Given the description of an element on the screen output the (x, y) to click on. 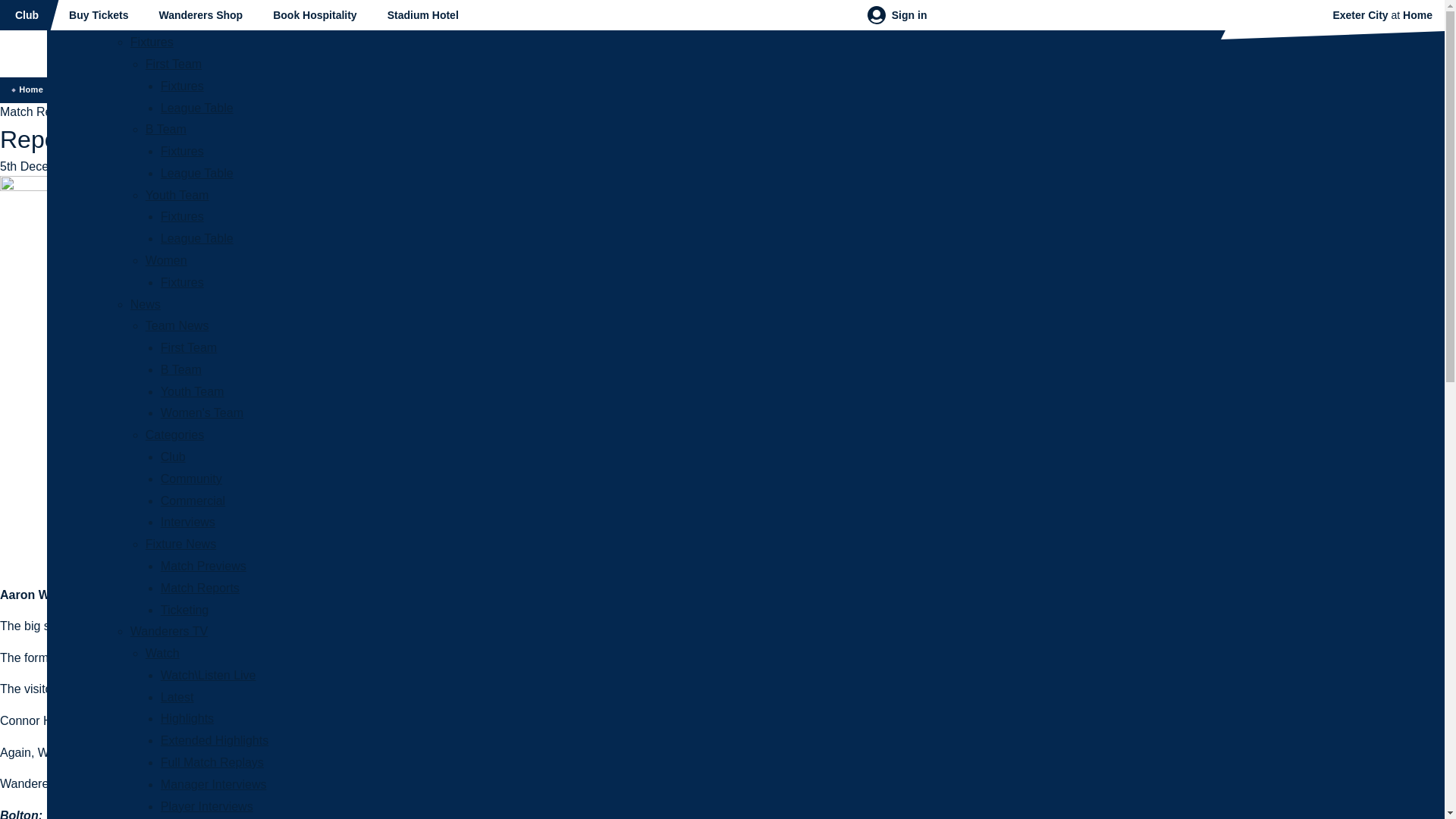
Women (166, 259)
Match Previews (203, 565)
Women (166, 259)
Fixtures (181, 215)
Match Reports (200, 587)
Team News (177, 325)
Categories (174, 434)
B Team (165, 128)
Categories (174, 434)
First Team (188, 347)
